Given the description of an element on the screen output the (x, y) to click on. 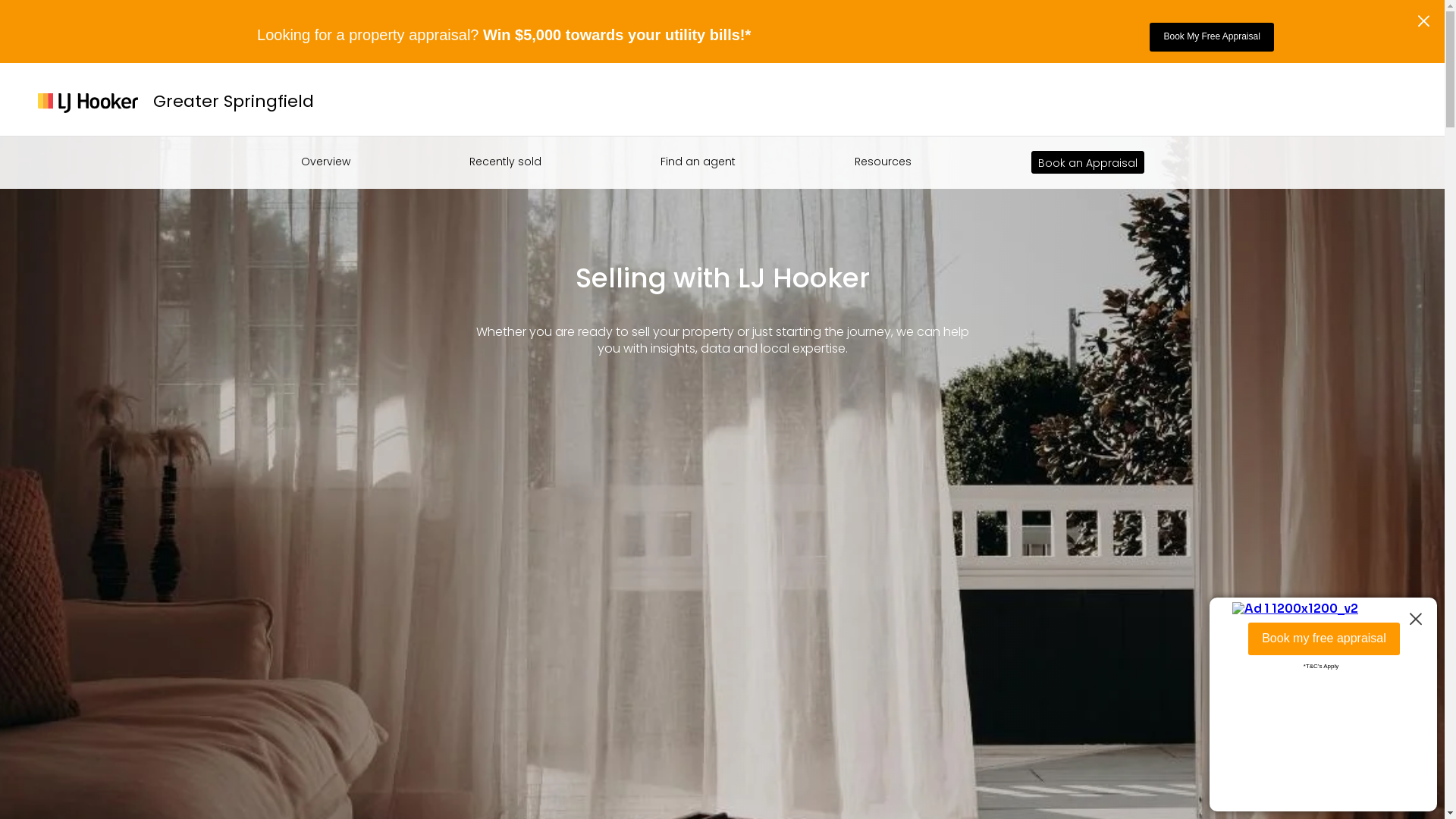
Resources Element type: text (882, 161)
Find an agent Element type: text (697, 161)
Recently sold Element type: text (505, 161)
Book an Appraisal Element type: text (1087, 161)
Overview Element type: text (324, 161)
